Given the description of an element on the screen output the (x, y) to click on. 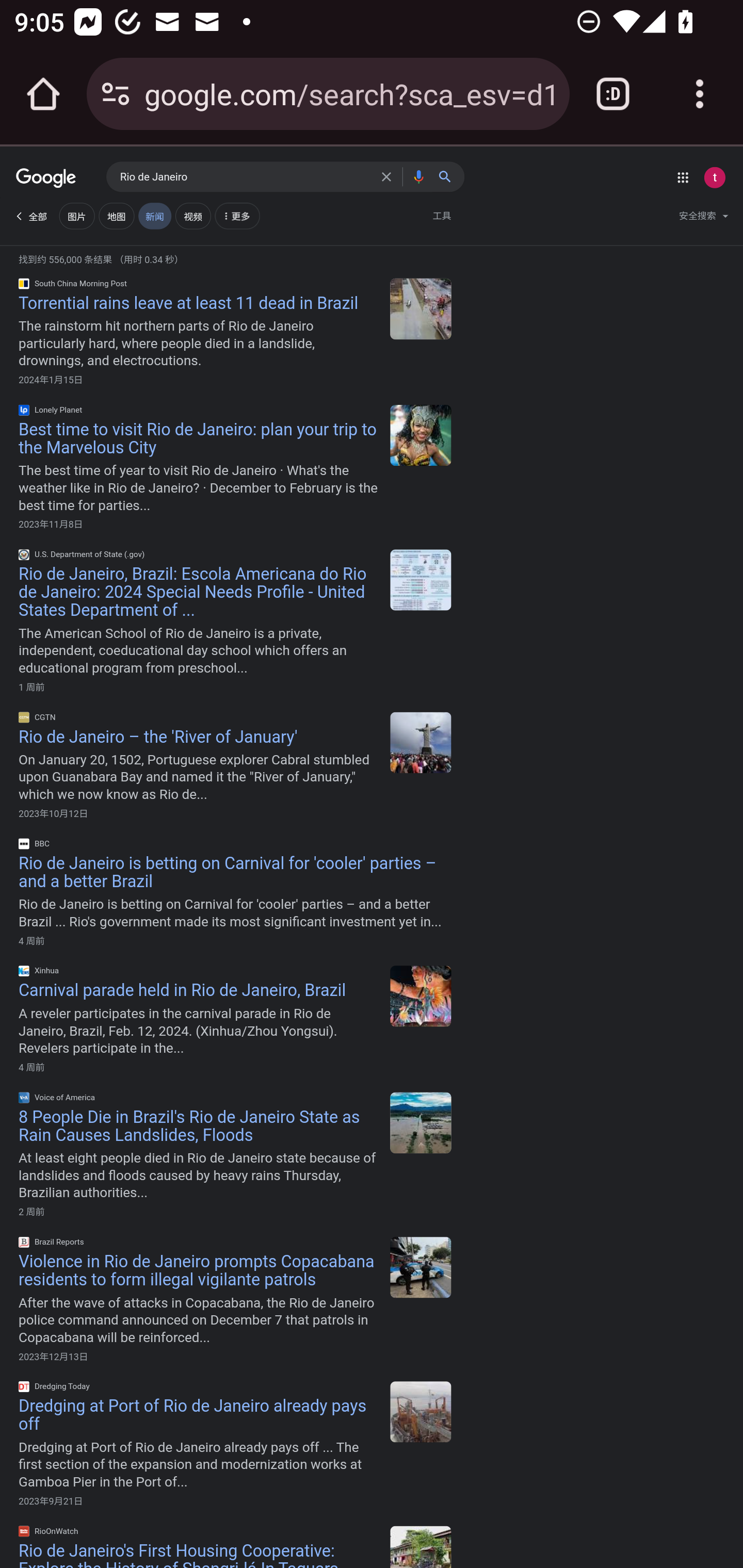
Open the home page (43, 93)
Connection is secure (115, 93)
Switch or close tabs (612, 93)
Customize and control Google Chrome (699, 93)
清除 (389, 176)
按语音搜索 (418, 176)
Google 搜索 (448, 176)
Google 应用 (682, 177)
Google 账号： test appium (testappium002@gmail.com) (714, 177)
Google (46, 179)
Rio de Janeiro (245, 177)
全部 (30, 215)
图片 (75, 215)
地图 (116, 215)
新闻 (154, 215)
视频 (192, 215)
More Filters (236, 217)
工具 (441, 215)
安全搜索 (703, 217)
